Given the description of an element on the screen output the (x, y) to click on. 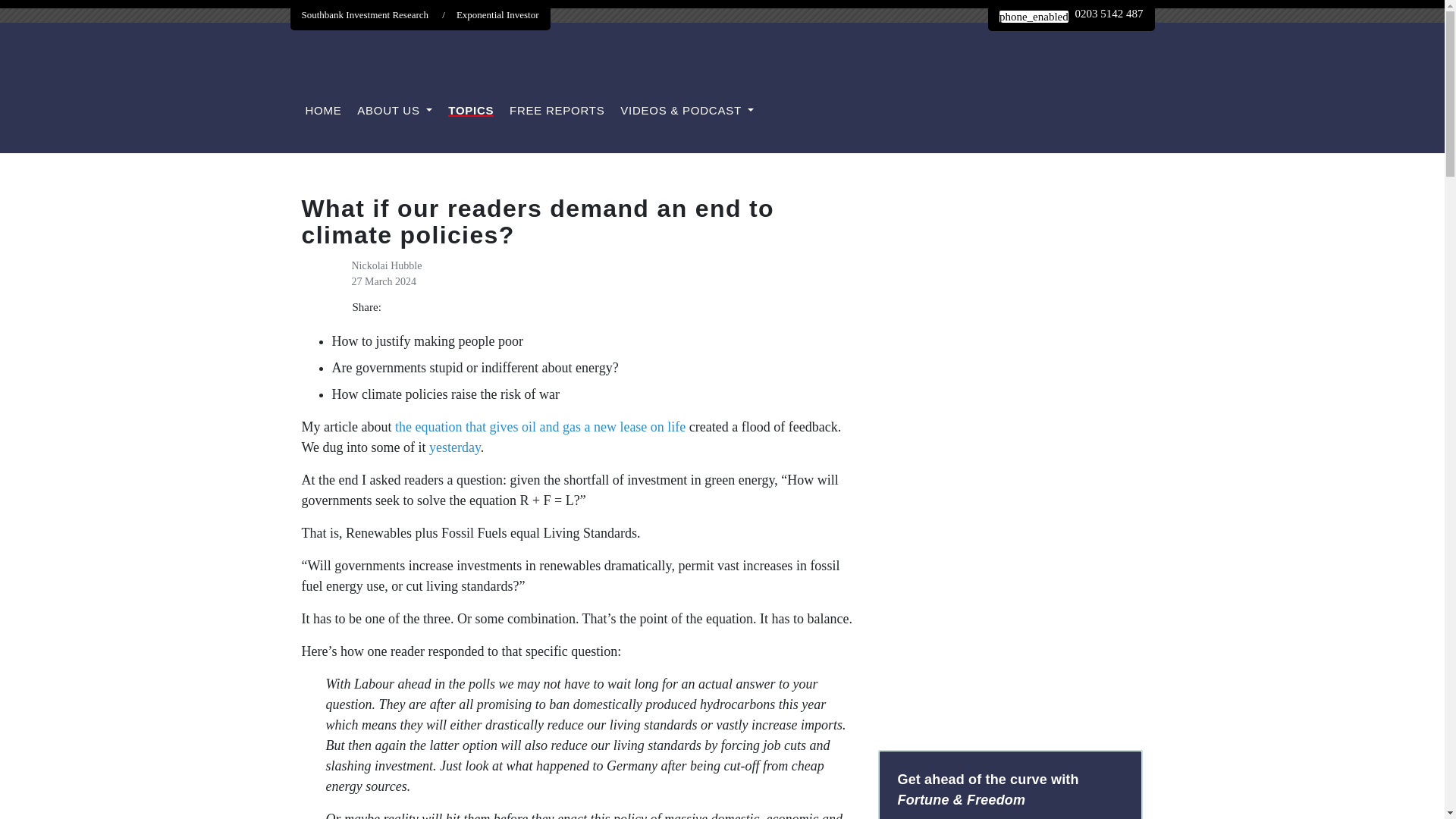
TOPICS (470, 110)
the equation that gives oil and gas a new lease on life (539, 426)
Nickolai Hubble (387, 265)
yesterday (454, 447)
HOME (322, 110)
ABOUT US (394, 110)
FREE REPORTS (556, 110)
